Given the description of an element on the screen output the (x, y) to click on. 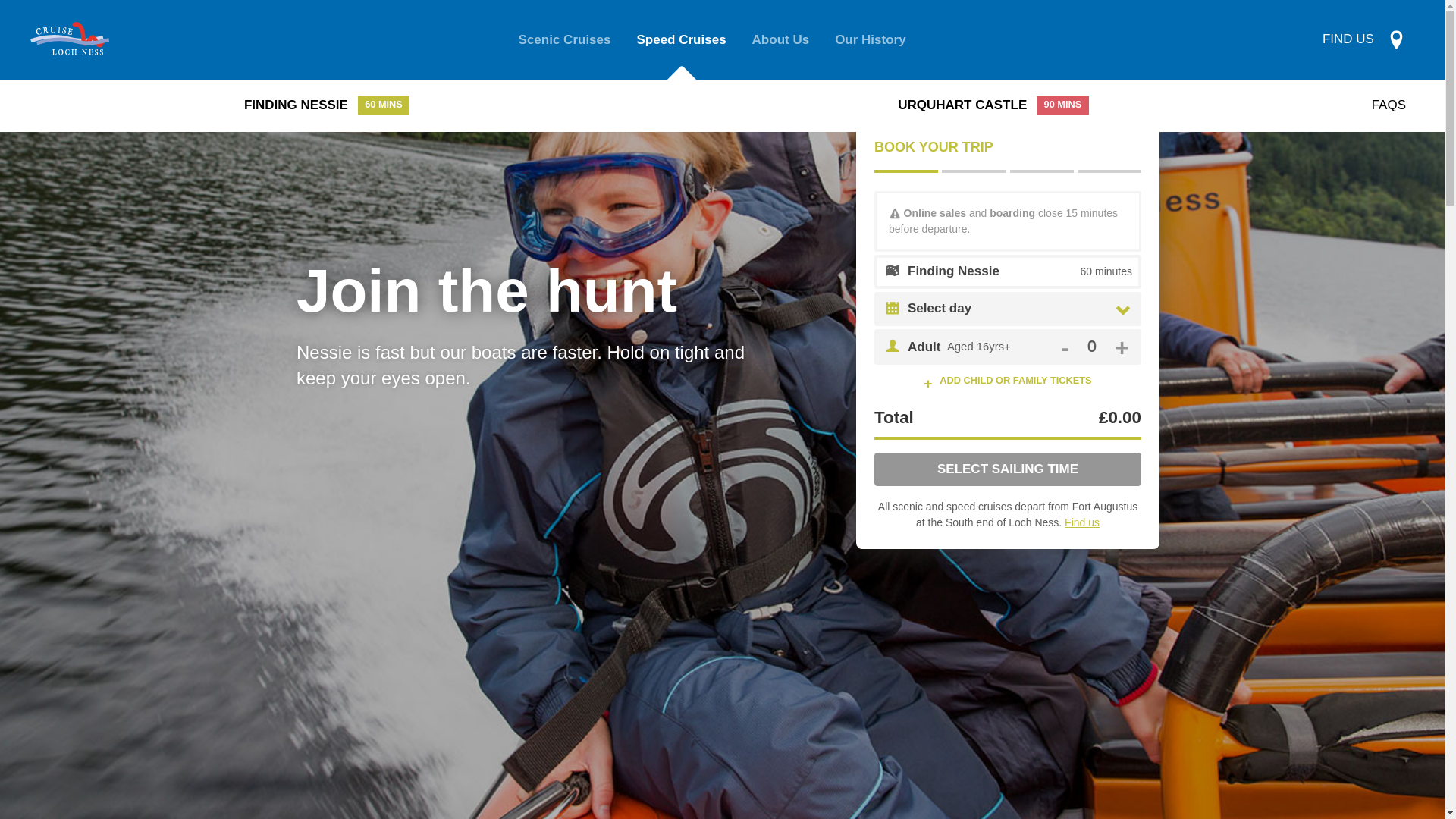
FAQS (1388, 104)
SELECT SAILING TIME (1008, 469)
Select day (1021, 308)
About Us (326, 104)
0 (780, 39)
FIND US (1092, 346)
Our History (1364, 39)
Cruise Loch Ness (870, 39)
